Given the description of an element on the screen output the (x, y) to click on. 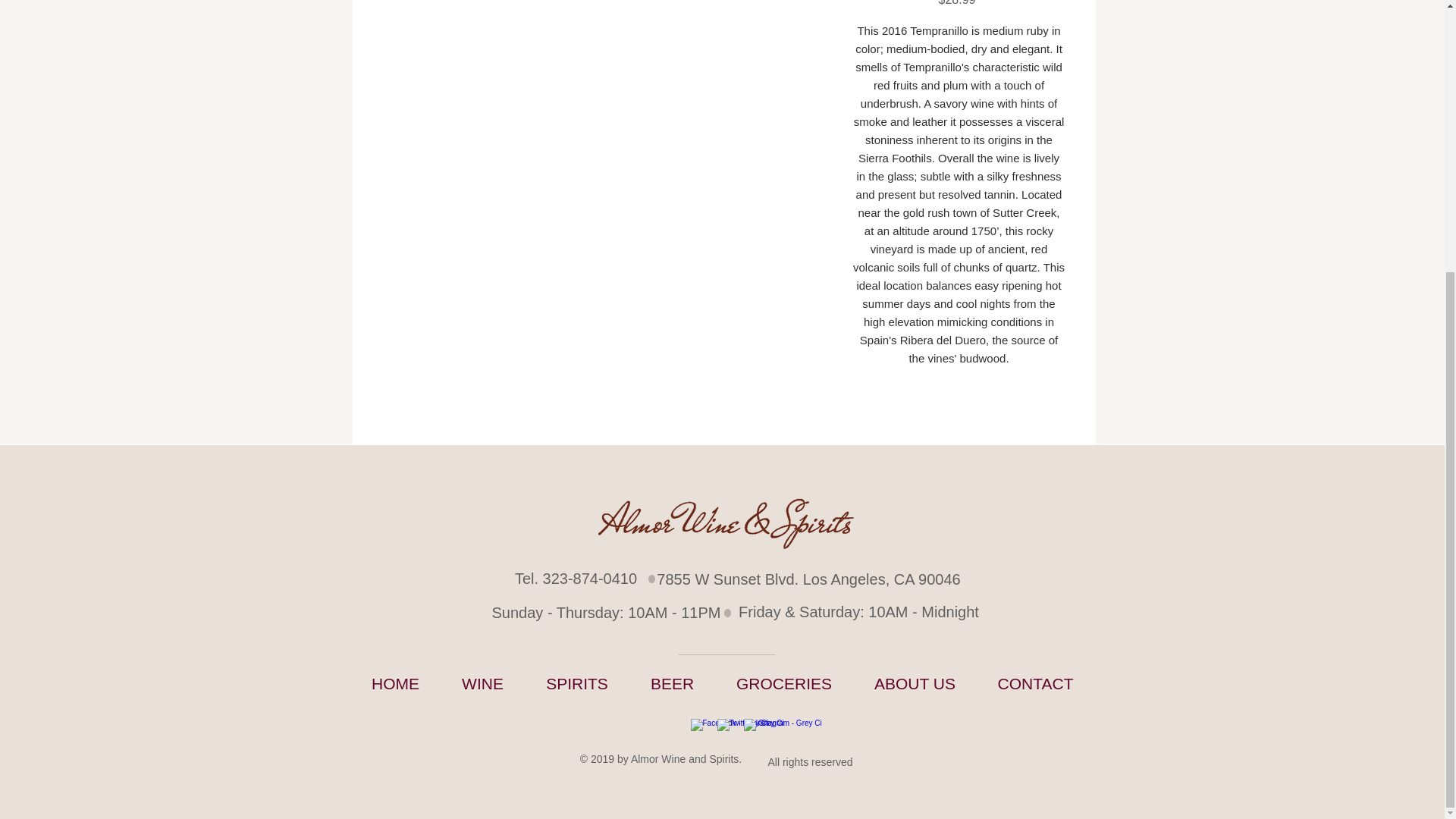
GROCERIES (784, 683)
HOME (394, 683)
SPIRITS (576, 683)
WINE (482, 683)
ABOUT US (914, 683)
BEER (671, 683)
CONTACT (1034, 683)
